Given the description of an element on the screen output the (x, y) to click on. 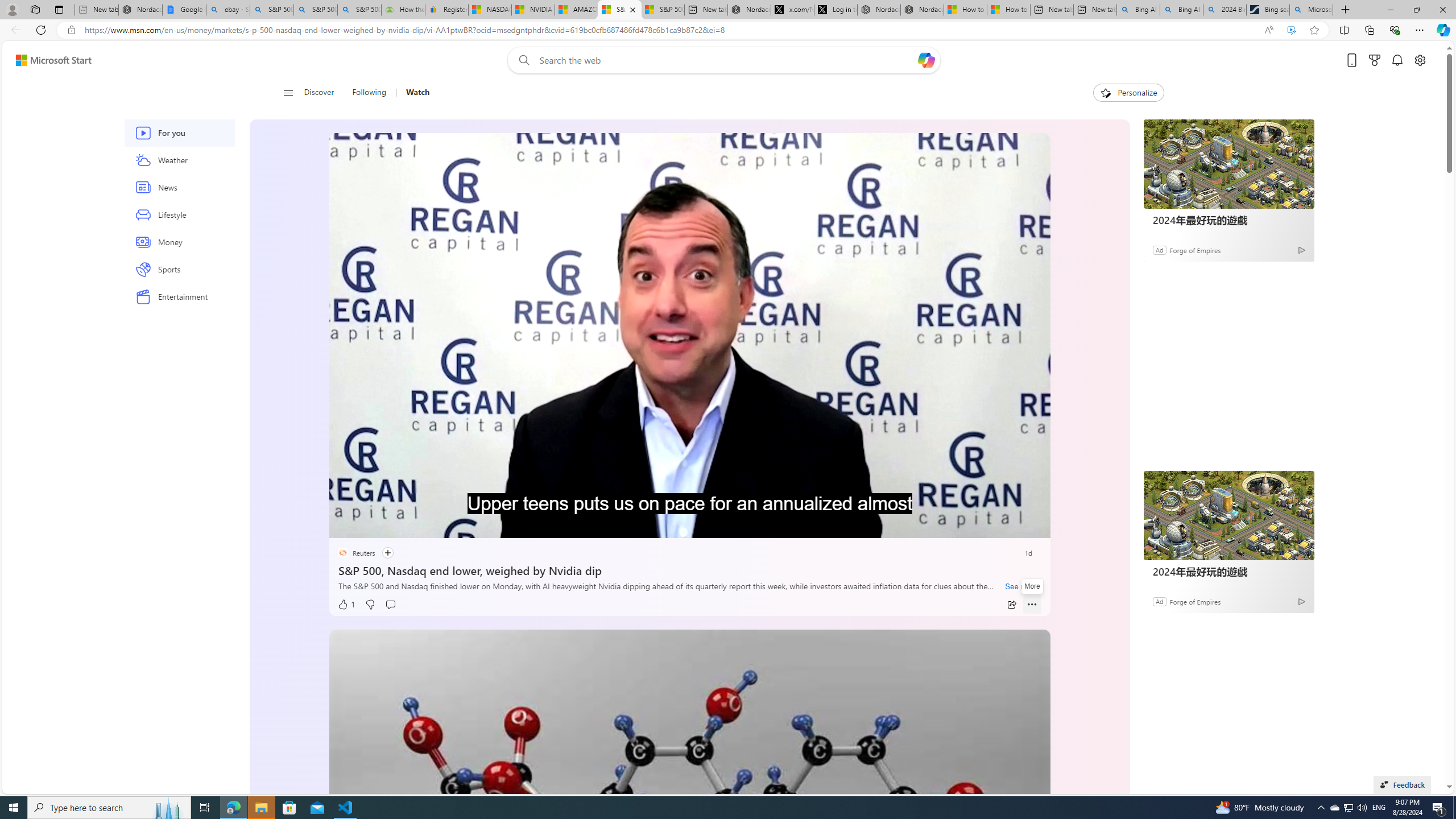
Log in to X / X (835, 9)
placeholder Reuters (355, 552)
Google Docs: Online Document Editor | Google Workspace (184, 9)
Class: button-glyph (287, 92)
1 Like (345, 604)
